Given the description of an element on the screen output the (x, y) to click on. 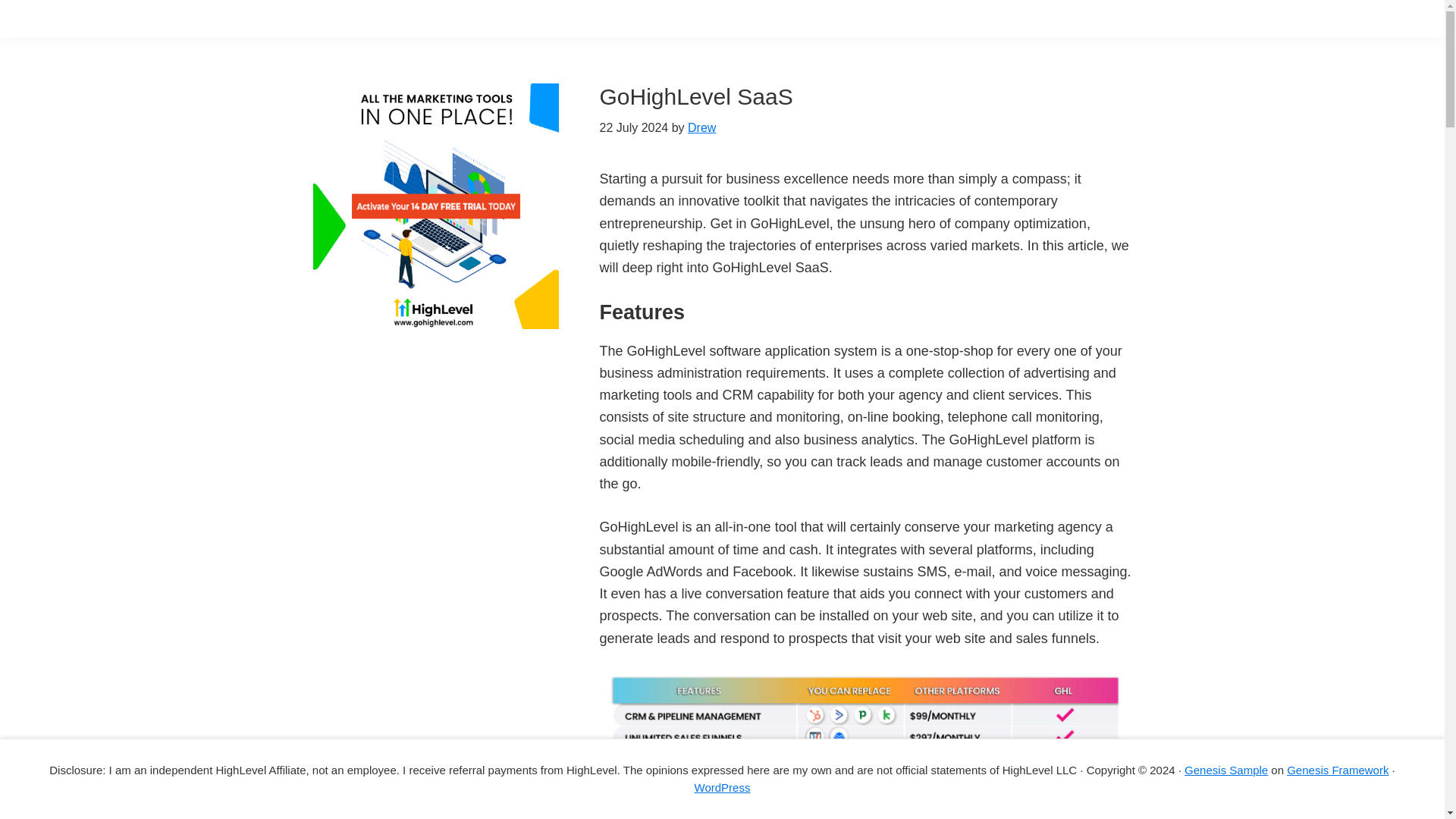
Genesis Framework (1338, 769)
Drew (701, 127)
Genesis Sample (1226, 769)
WordPress (722, 787)
